Given the description of an element on the screen output the (x, y) to click on. 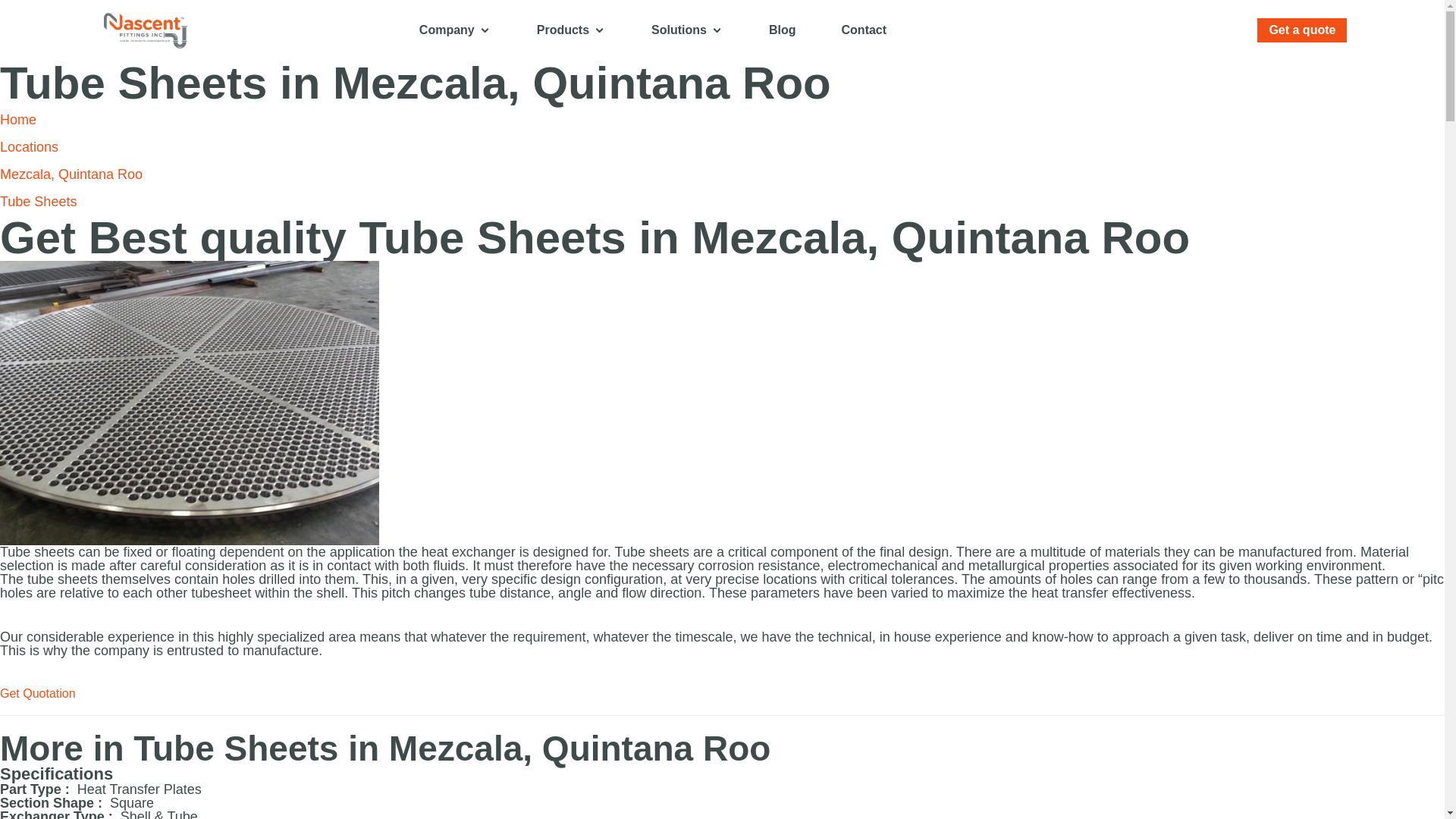
Nascent Fitting Inc. (145, 29)
Nascent Fitting Inc. (197, 30)
